Given the description of an element on the screen output the (x, y) to click on. 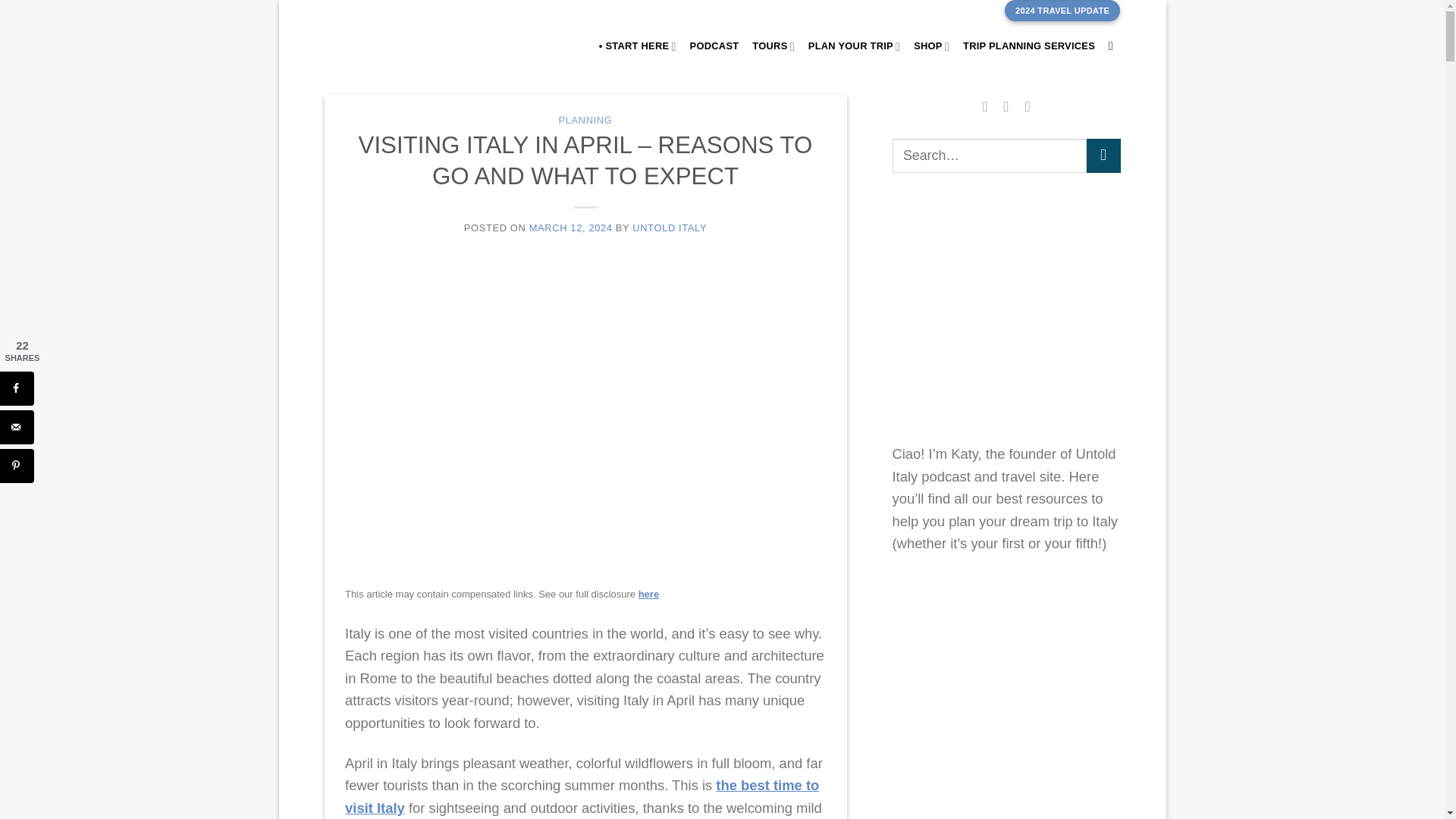
Untold Italy - Plan your dream trip to Italy (391, 46)
PODCAST (714, 46)
TOURS (772, 46)
